Given the description of an element on the screen output the (x, y) to click on. 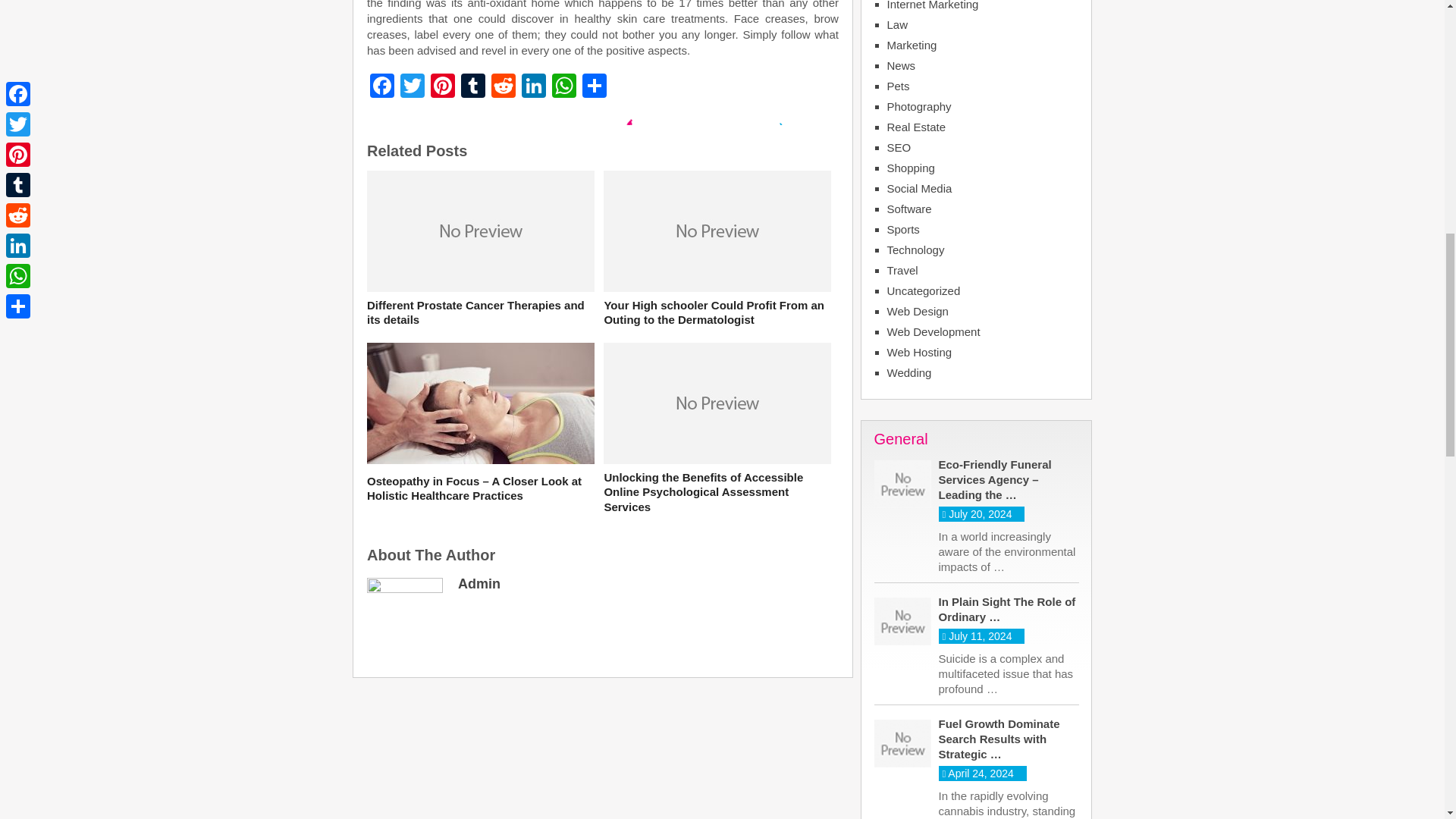
Reddit (502, 87)
Twitter (412, 87)
Different Prostate Cancer Therapies and its details (480, 312)
Facebook (381, 87)
WhatsApp (563, 87)
LinkedIn (533, 87)
Facebook (381, 87)
Share (594, 87)
Tumblr (472, 87)
Admin (479, 583)
WhatsApp (563, 87)
Different Prostate Cancer Therapies and its details (480, 312)
Tumblr (472, 87)
Pinterest (443, 87)
